Given the description of an element on the screen output the (x, y) to click on. 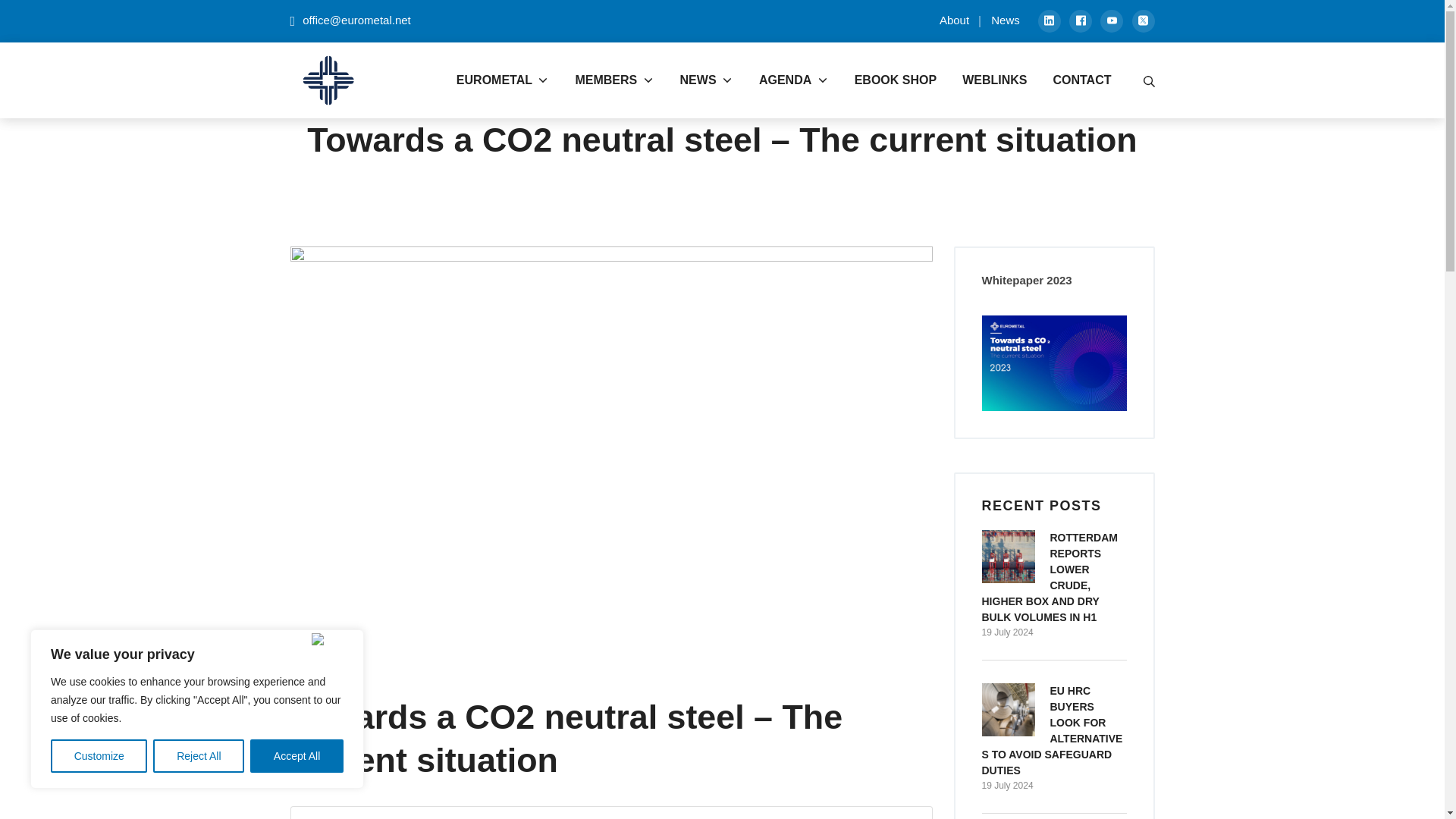
Reject All (198, 756)
Accept All (296, 756)
Customize (98, 756)
